Given the description of an element on the screen output the (x, y) to click on. 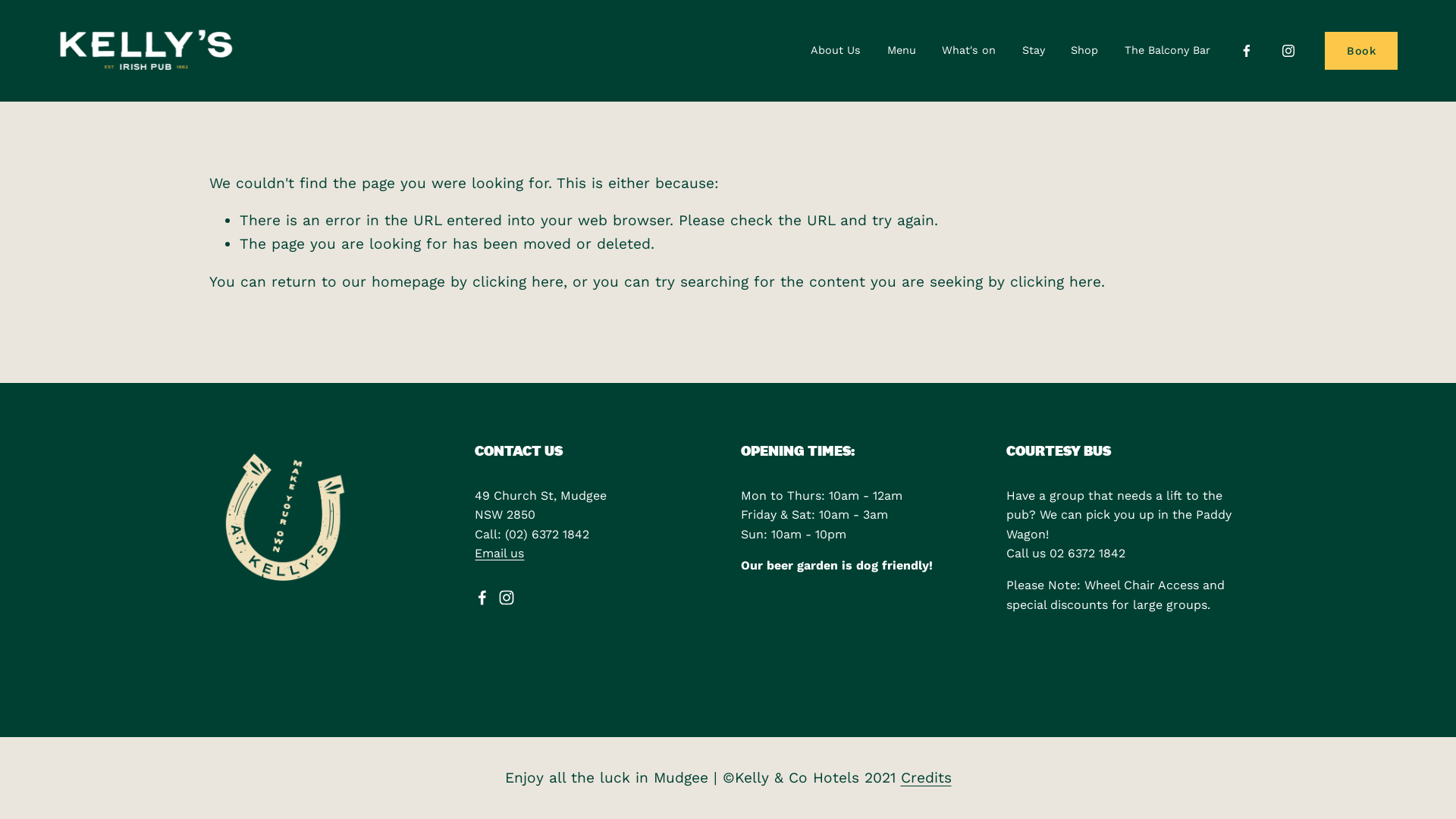
Credits Element type: text (925, 778)
About Us Element type: text (835, 50)
Menu Element type: text (901, 50)
Stay Element type: text (1033, 50)
clicking here Element type: text (1055, 281)
What's on Element type: text (968, 50)
The Balcony Bar Element type: text (1167, 50)
Book Element type: text (1360, 50)
clicking here Element type: text (517, 281)
Shop Element type: text (1084, 50)
Email us Element type: text (499, 553)
